Given the description of an element on the screen output the (x, y) to click on. 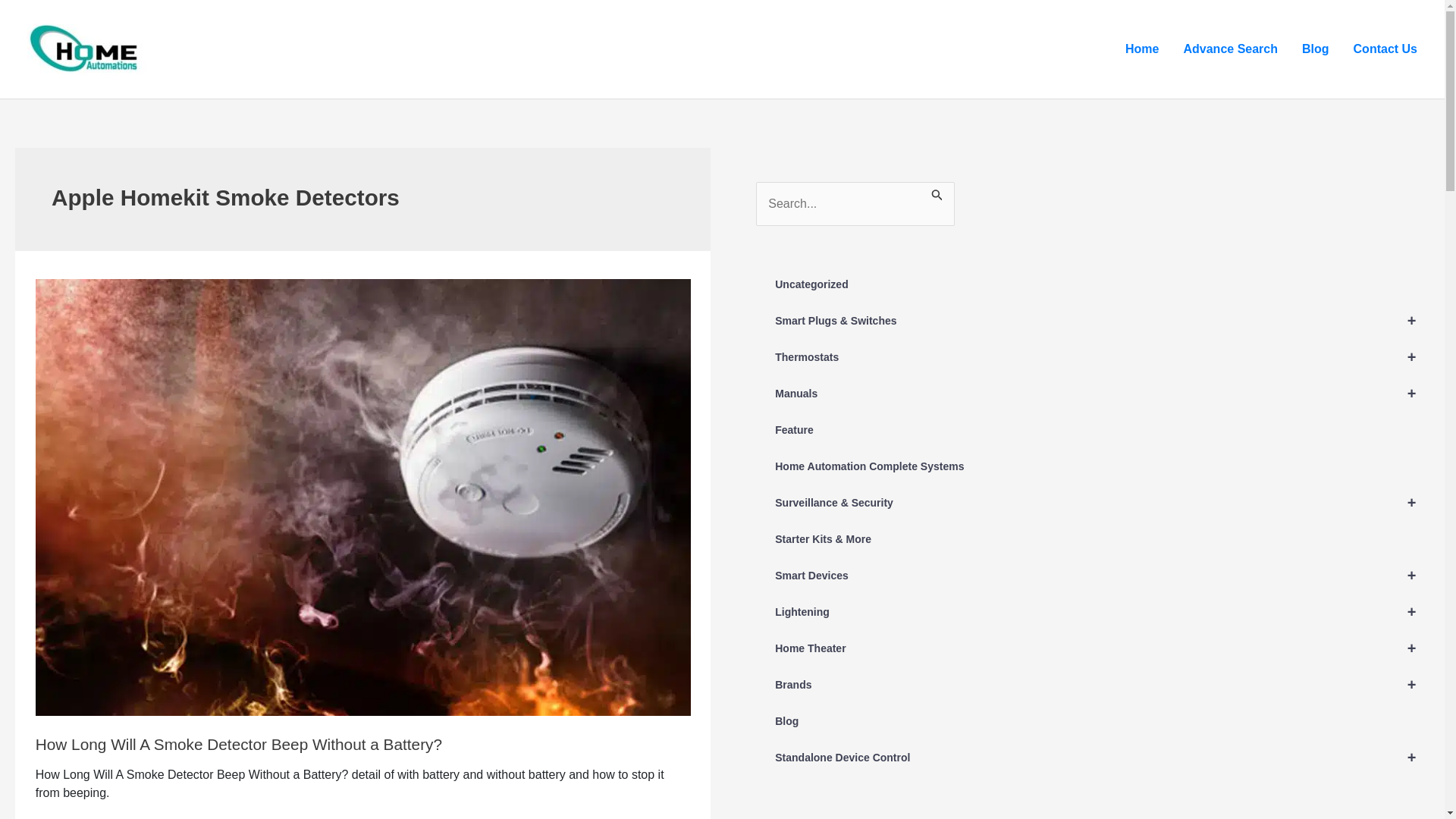
Uncategorized (1092, 284)
Blog (1315, 49)
How Long Will A Smoke Detector Beep Without a Battery? (238, 743)
Advance Search (1230, 49)
Contact Us (1384, 49)
Home (1141, 49)
